Given the description of an element on the screen output the (x, y) to click on. 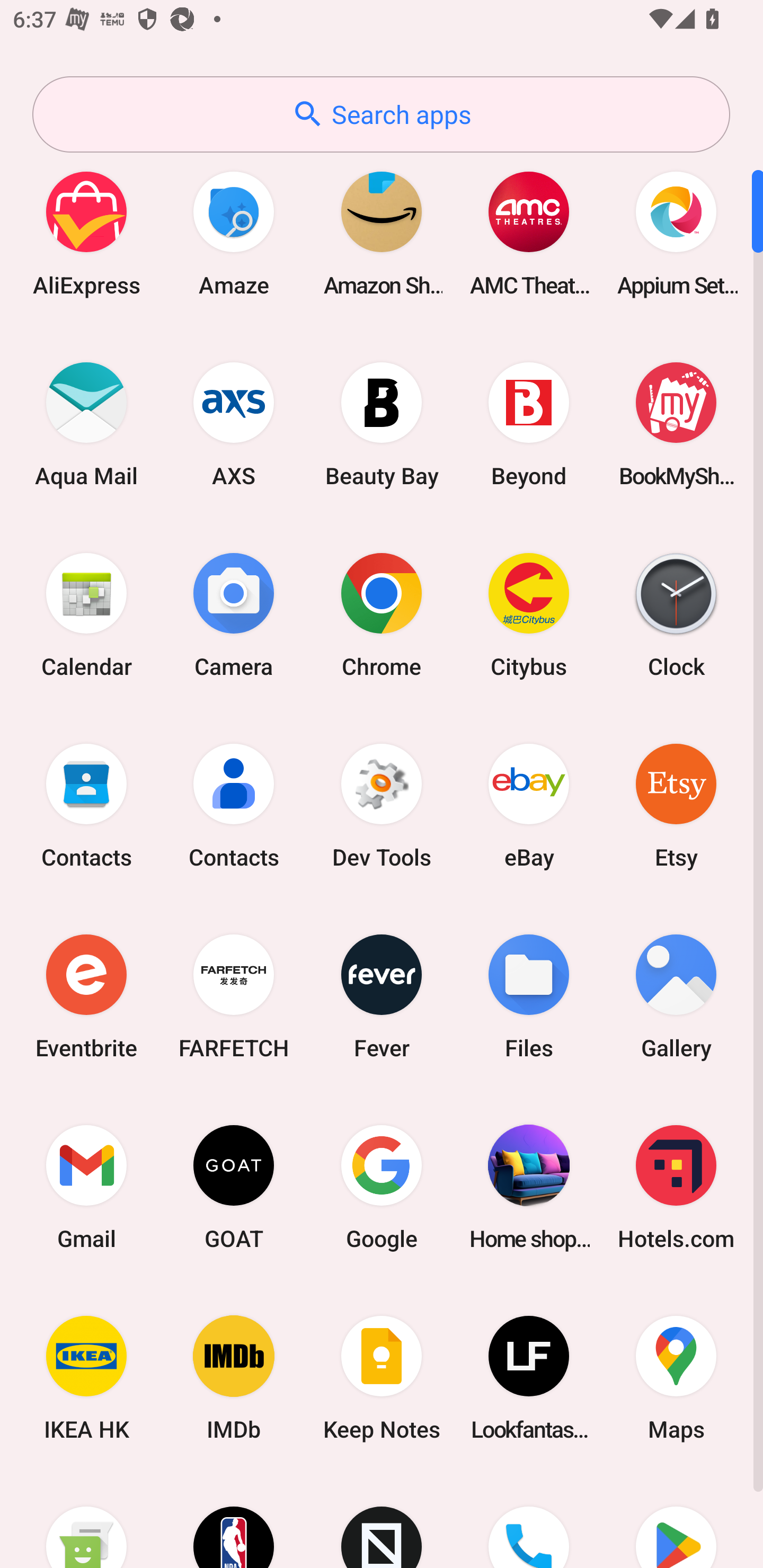
  Search apps (381, 114)
AliExpress (86, 233)
Amaze (233, 233)
Amazon Shopping (381, 233)
AMC Theatres (528, 233)
Appium Settings (676, 233)
Aqua Mail (86, 424)
AXS (233, 424)
Beauty Bay (381, 424)
Beyond (528, 424)
BookMyShow (676, 424)
Calendar (86, 614)
Camera (233, 614)
Chrome (381, 614)
Citybus (528, 614)
Clock (676, 614)
Contacts (86, 805)
Contacts (233, 805)
Dev Tools (381, 805)
eBay (528, 805)
Etsy (676, 805)
Eventbrite (86, 996)
FARFETCH (233, 996)
Fever (381, 996)
Files (528, 996)
Gallery (676, 996)
Gmail (86, 1186)
GOAT (233, 1186)
Google (381, 1186)
Home shopping (528, 1186)
Hotels.com (676, 1186)
IKEA HK (86, 1377)
IMDb (233, 1377)
Keep Notes (381, 1377)
Lookfantastic (528, 1377)
Maps (676, 1377)
Messaging (86, 1520)
NBA (233, 1520)
Novelship (381, 1520)
Phone (528, 1520)
Play Store (676, 1520)
